Given the description of an element on the screen output the (x, y) to click on. 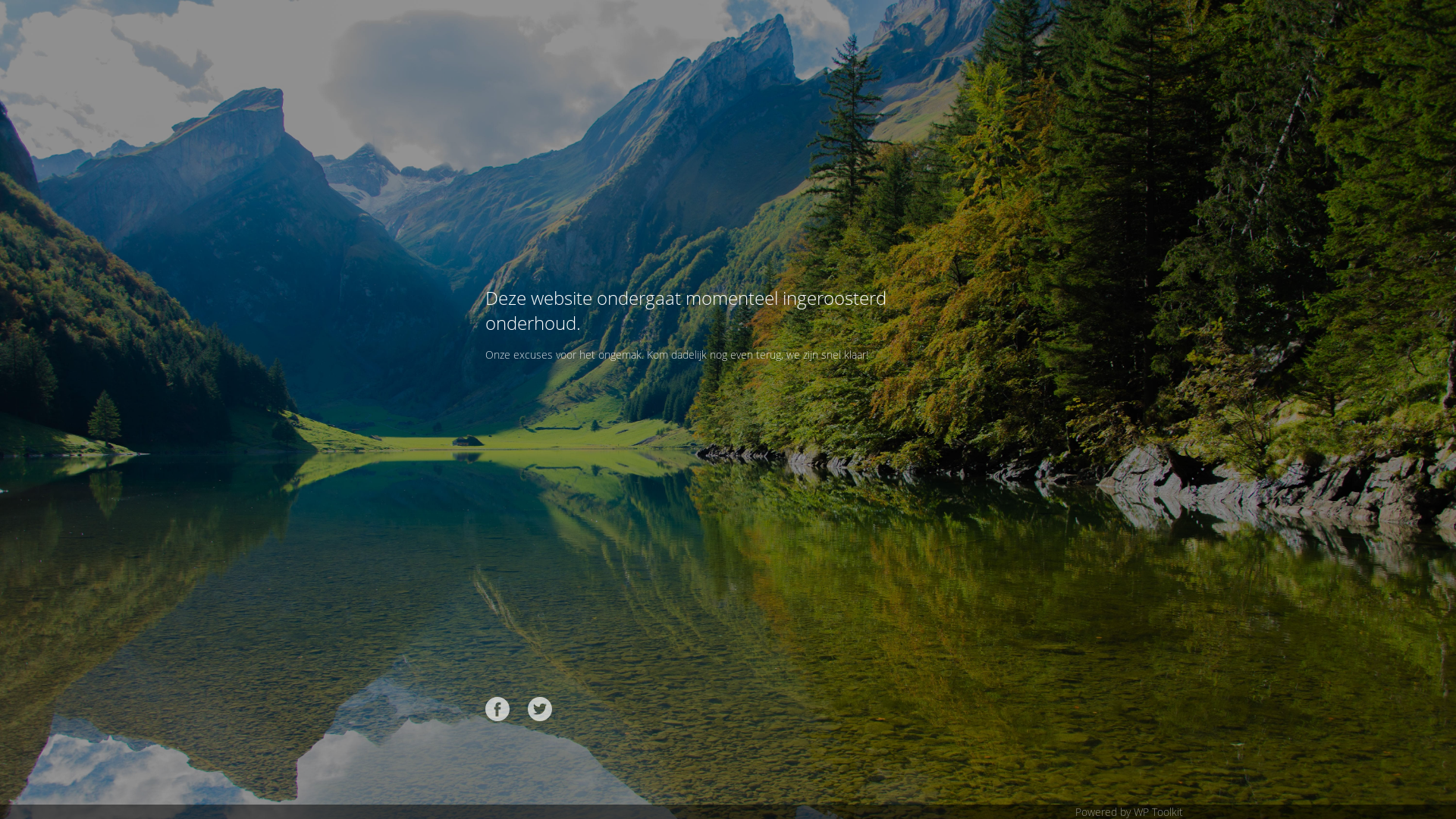
Twitter Element type: hover (539, 708)
Facebook Element type: hover (497, 708)
